Given the description of an element on the screen output the (x, y) to click on. 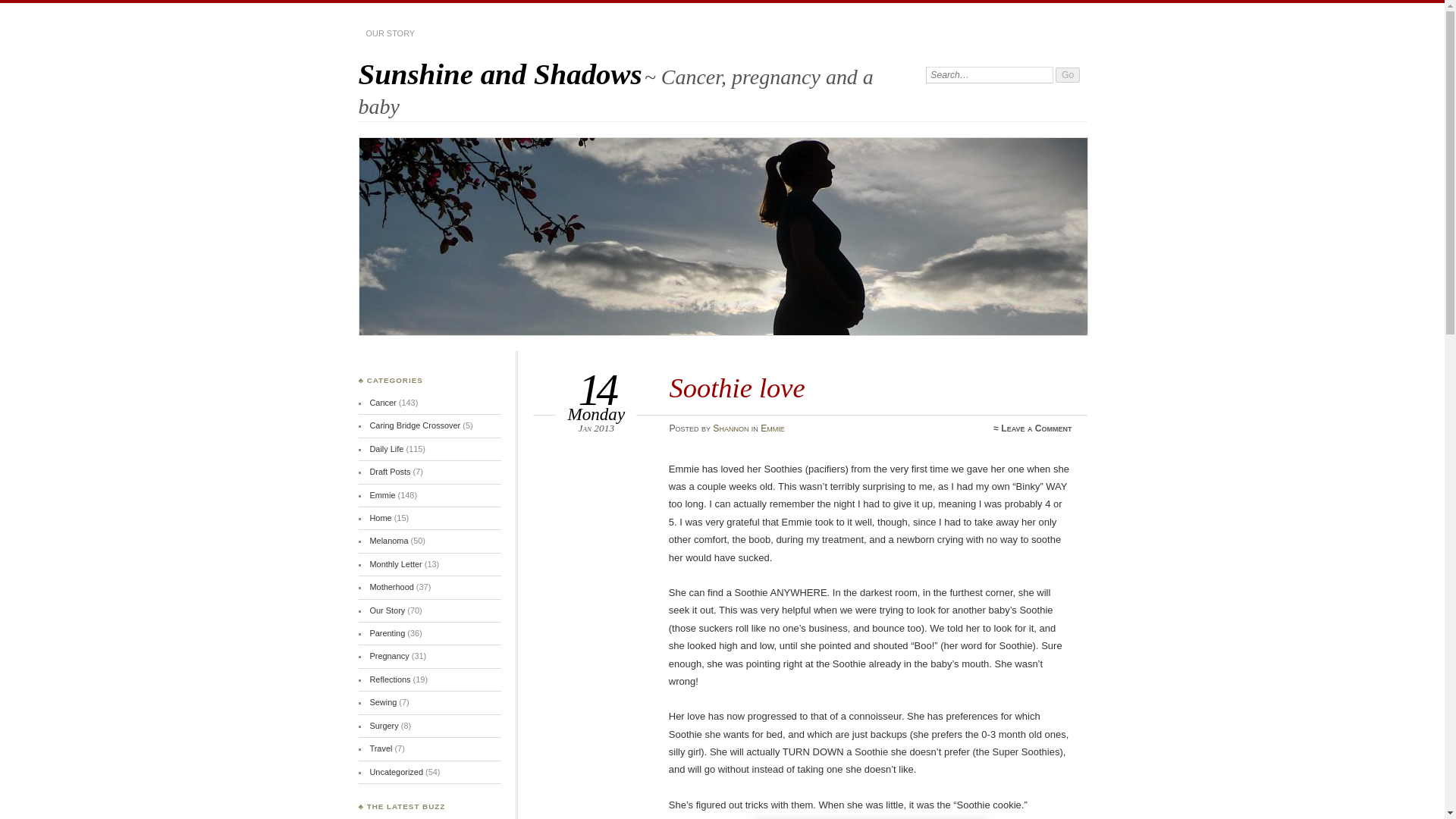
Go (1067, 74)
Reflections (389, 678)
Parenting (386, 633)
Sewing (382, 701)
Sunshine and Shadows (500, 73)
Emmie (772, 428)
Our Story (386, 610)
Travel (380, 747)
Daily Life (386, 448)
Shannon (730, 428)
